Given the description of an element on the screen output the (x, y) to click on. 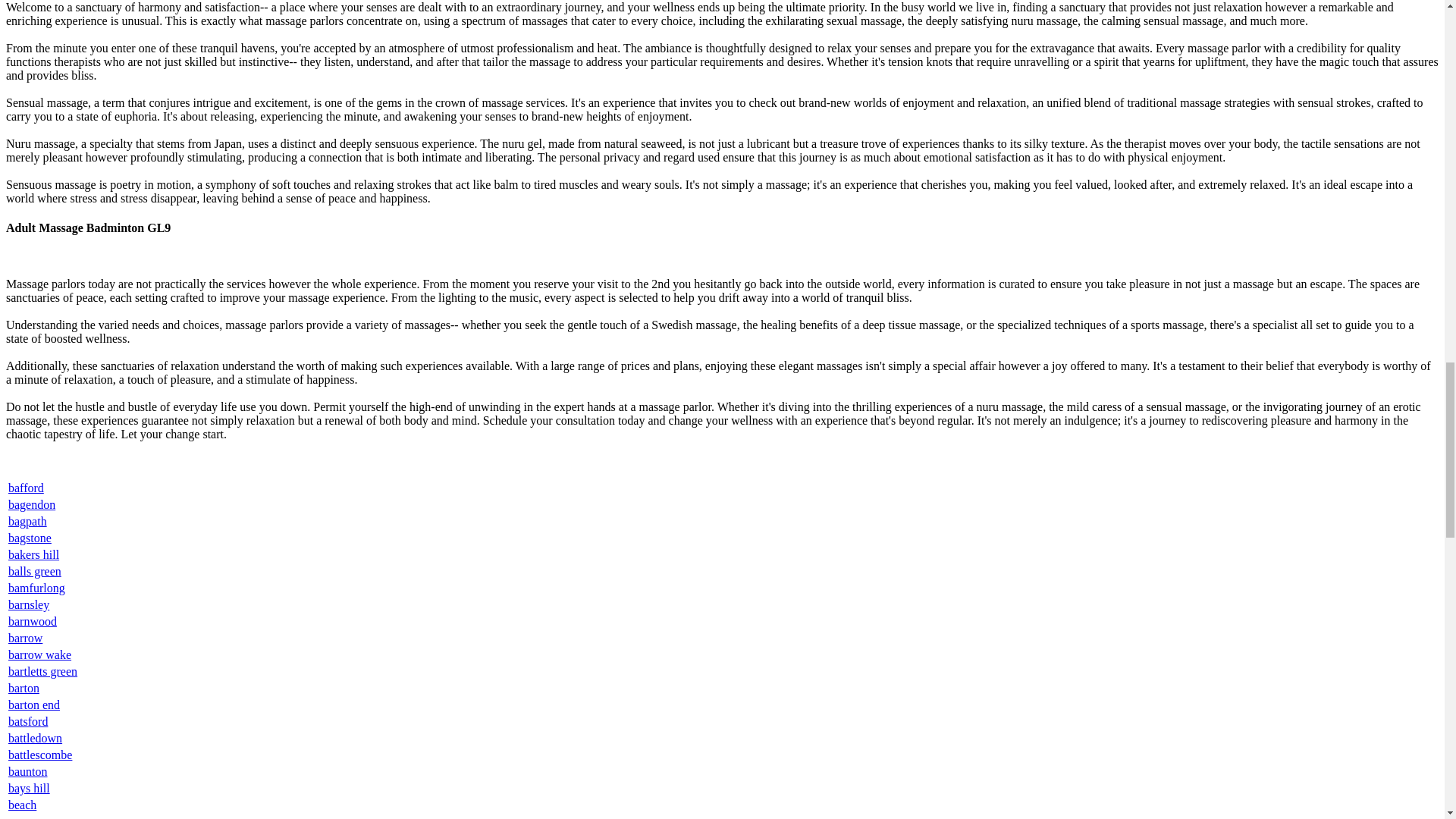
bakers hill (33, 554)
barnwood (32, 621)
batsford (28, 721)
bafford (25, 487)
bagstone (29, 537)
balls green (34, 571)
bamfurlong (36, 587)
barrow wake (39, 654)
battlescombe (39, 754)
baunton (28, 771)
barnsley (28, 604)
barton end (33, 704)
beach (22, 804)
bays hill (28, 788)
barrow (25, 637)
